Given the description of an element on the screen output the (x, y) to click on. 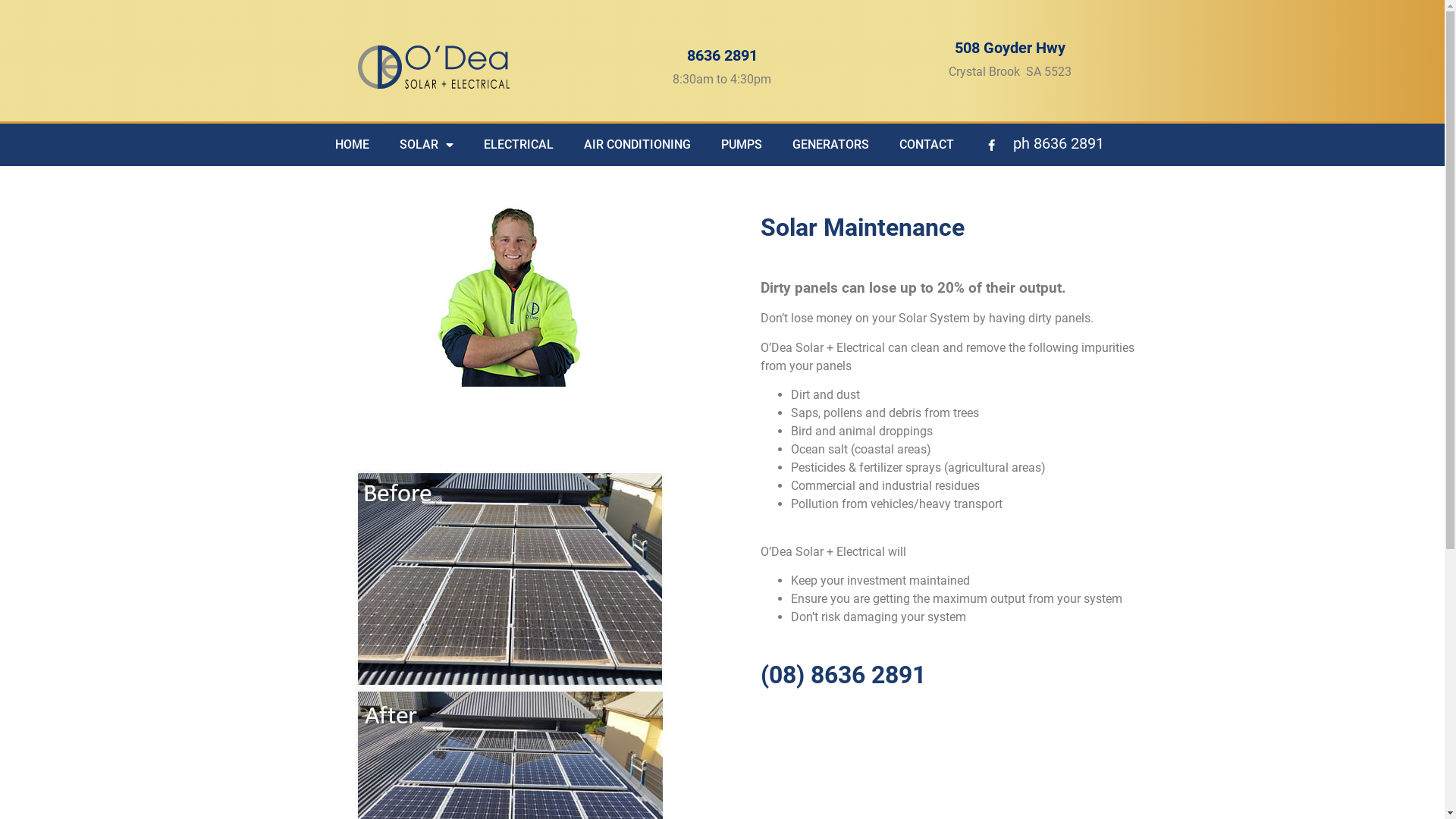
CONTACT Element type: text (926, 144)
PUMPS Element type: text (740, 144)
odea_logo_200 Element type: hover (433, 65)
(08) 8636 2891 Element type: text (842, 678)
ph 8636 2891 Element type: text (1058, 143)
SOLAR Element type: text (425, 144)
GENERATORS Element type: text (829, 144)
AIR CONDITIONING Element type: text (637, 144)
508 Goyder Hwy
Crystal Brook  SA 5523 Element type: text (1009, 58)
8636 2891 Element type: text (722, 55)
ELECTRICAL Element type: text (518, 144)
HOME Element type: text (352, 144)
